Given the description of an element on the screen output the (x, y) to click on. 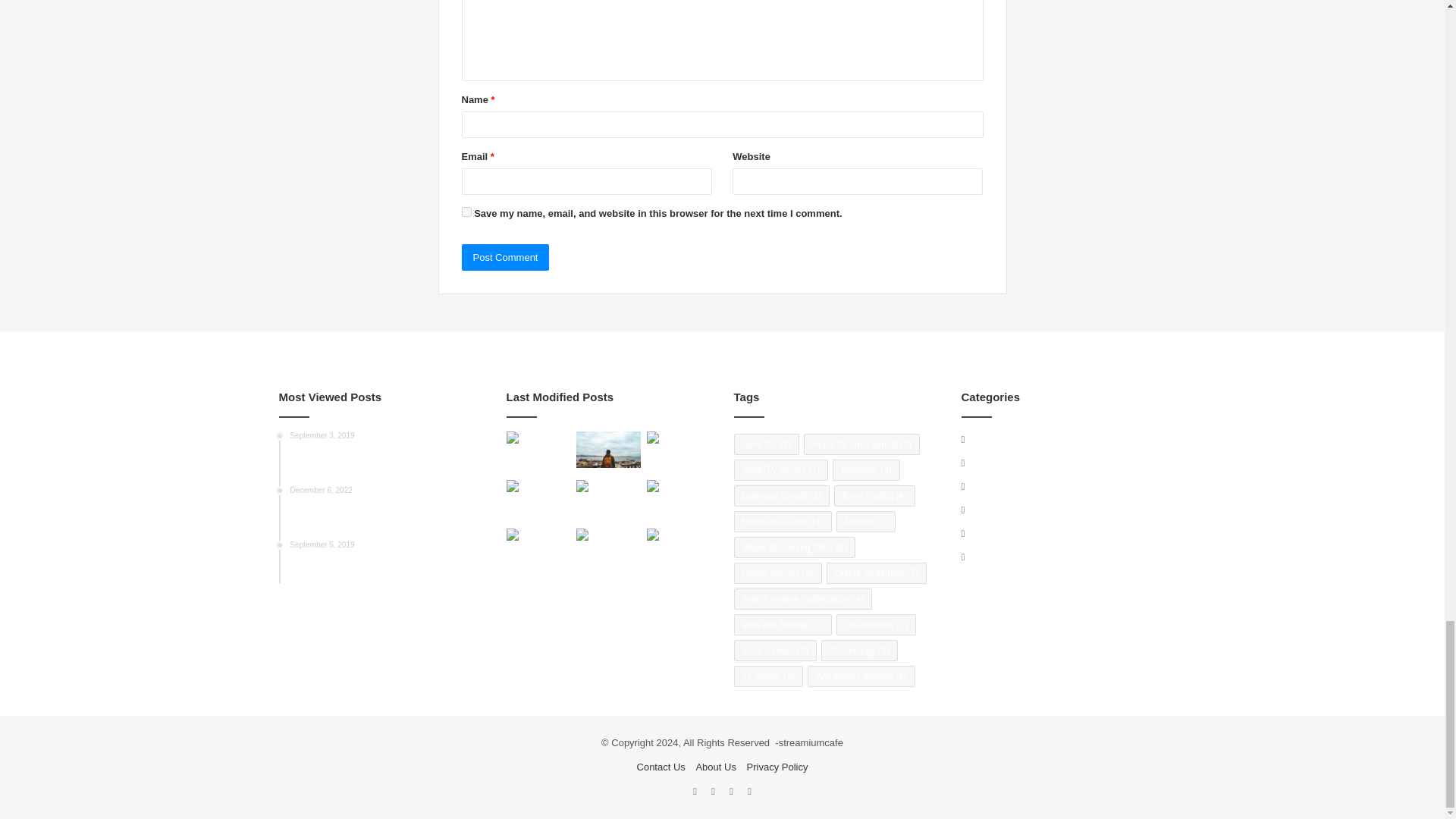
Post Comment (504, 257)
yes (465, 212)
